Given the description of an element on the screen output the (x, y) to click on. 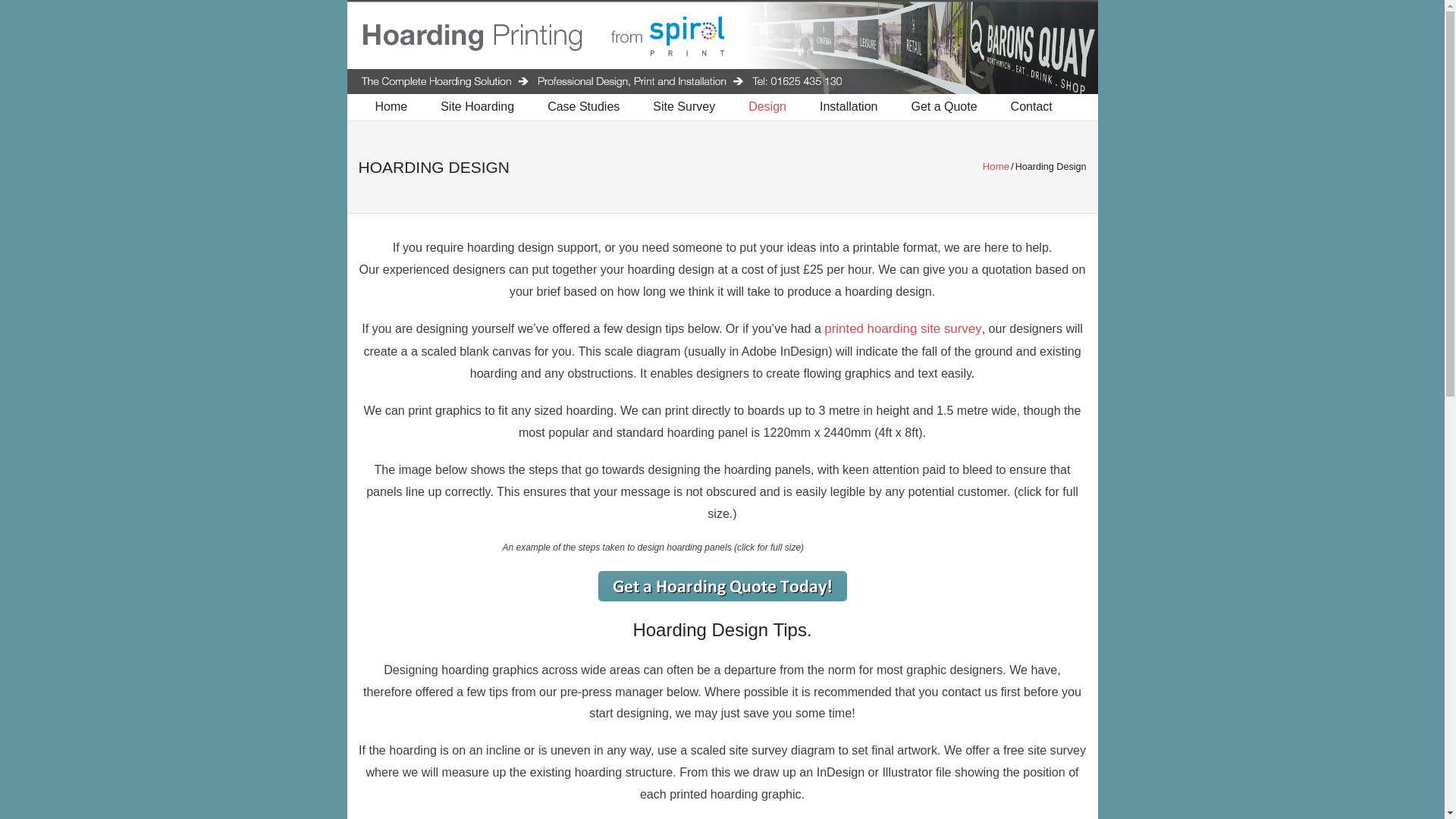
printed hoarding site survey (902, 328)
Site Hoarding (477, 107)
Installation (849, 107)
Case Studies (583, 107)
Home (995, 165)
Contact (1031, 107)
Design (767, 107)
Home (390, 107)
Site Survey (684, 107)
Get a Quote (942, 107)
